Given the description of an element on the screen output the (x, y) to click on. 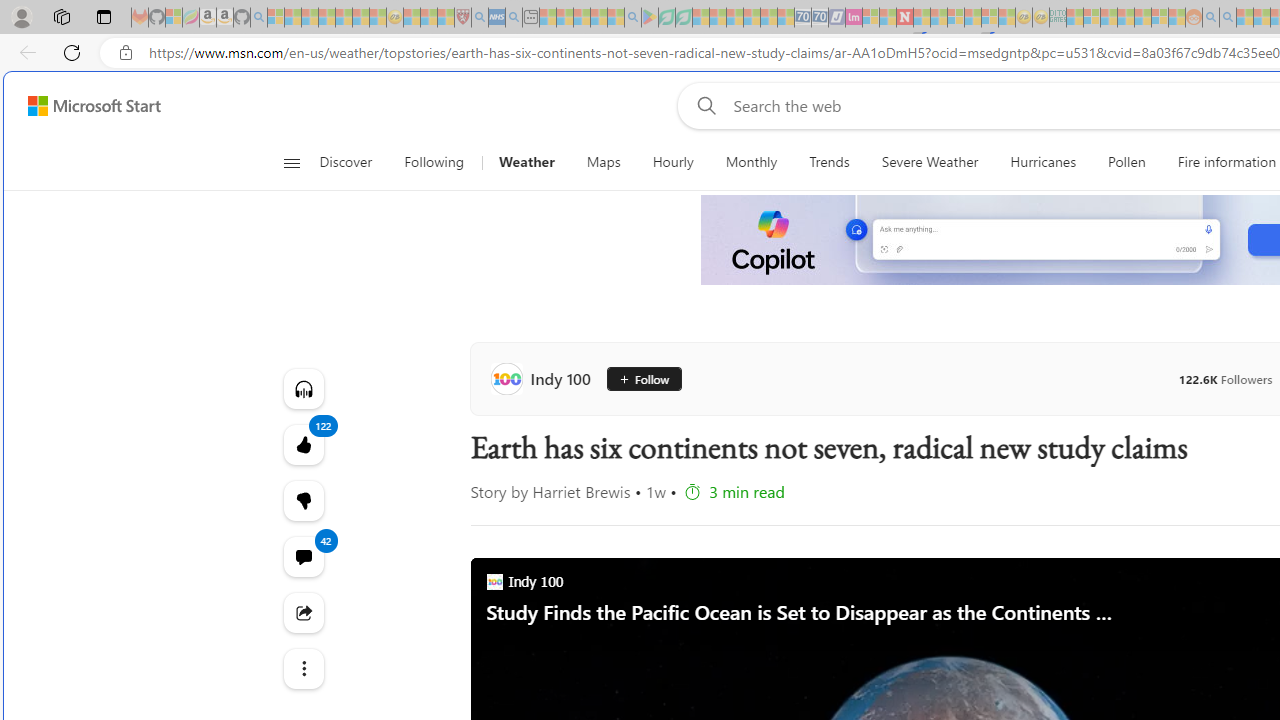
Follow (644, 378)
Pollen (1126, 162)
Hourly (673, 162)
122 Like (302, 444)
Local - MSN - Sleeping (445, 17)
